Given the description of an element on the screen output the (x, y) to click on. 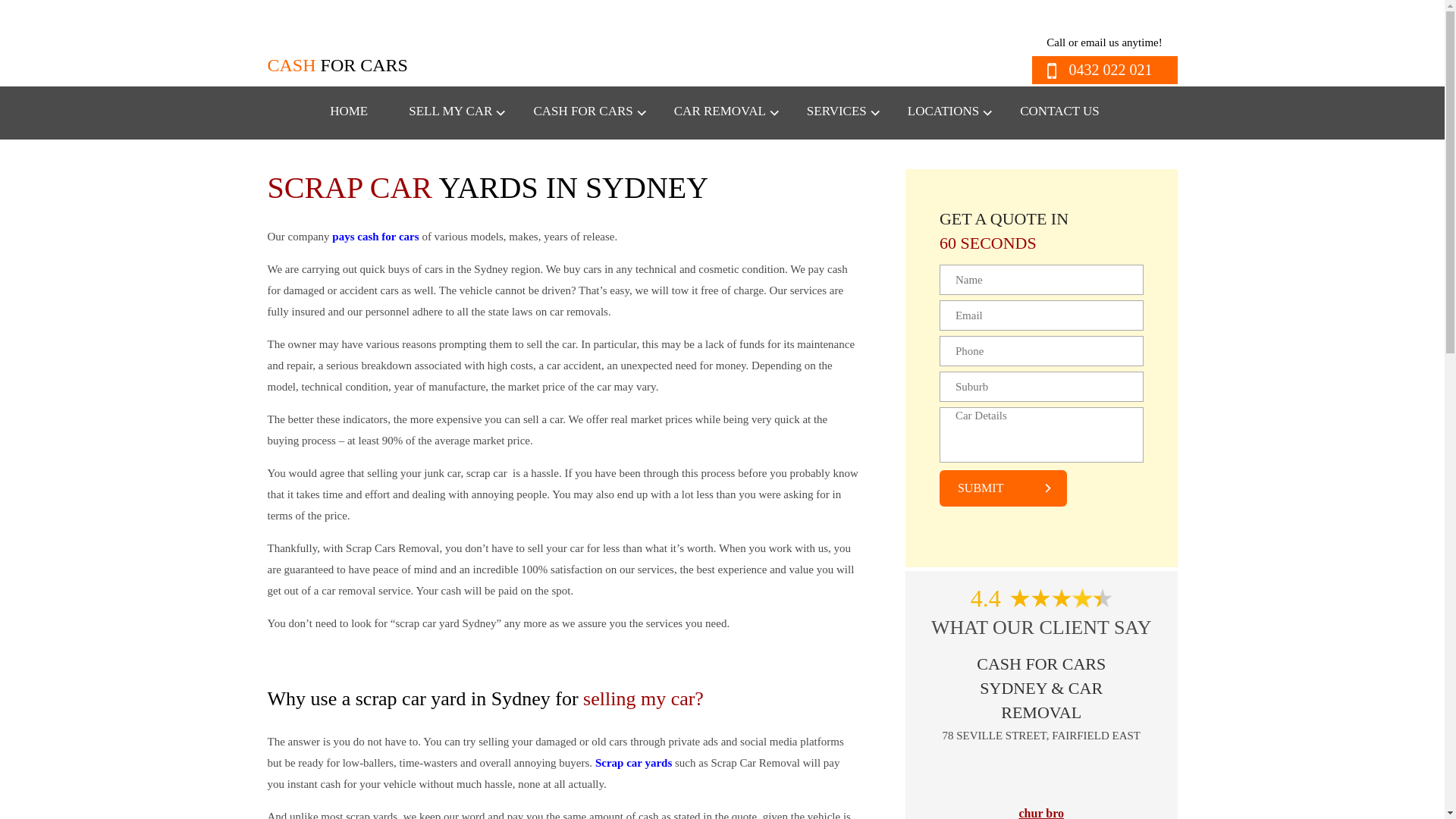
HOME (348, 111)
Sell My Car (450, 111)
0432 022 021 (1103, 70)
submit (1003, 488)
CASH FOR CARS (582, 111)
SERVICES (835, 111)
Car Removal Sydney (719, 111)
Cash For Cars (341, 49)
SELL MY CAR (450, 111)
0432 022 021 (1103, 70)
